Given the description of an element on the screen output the (x, y) to click on. 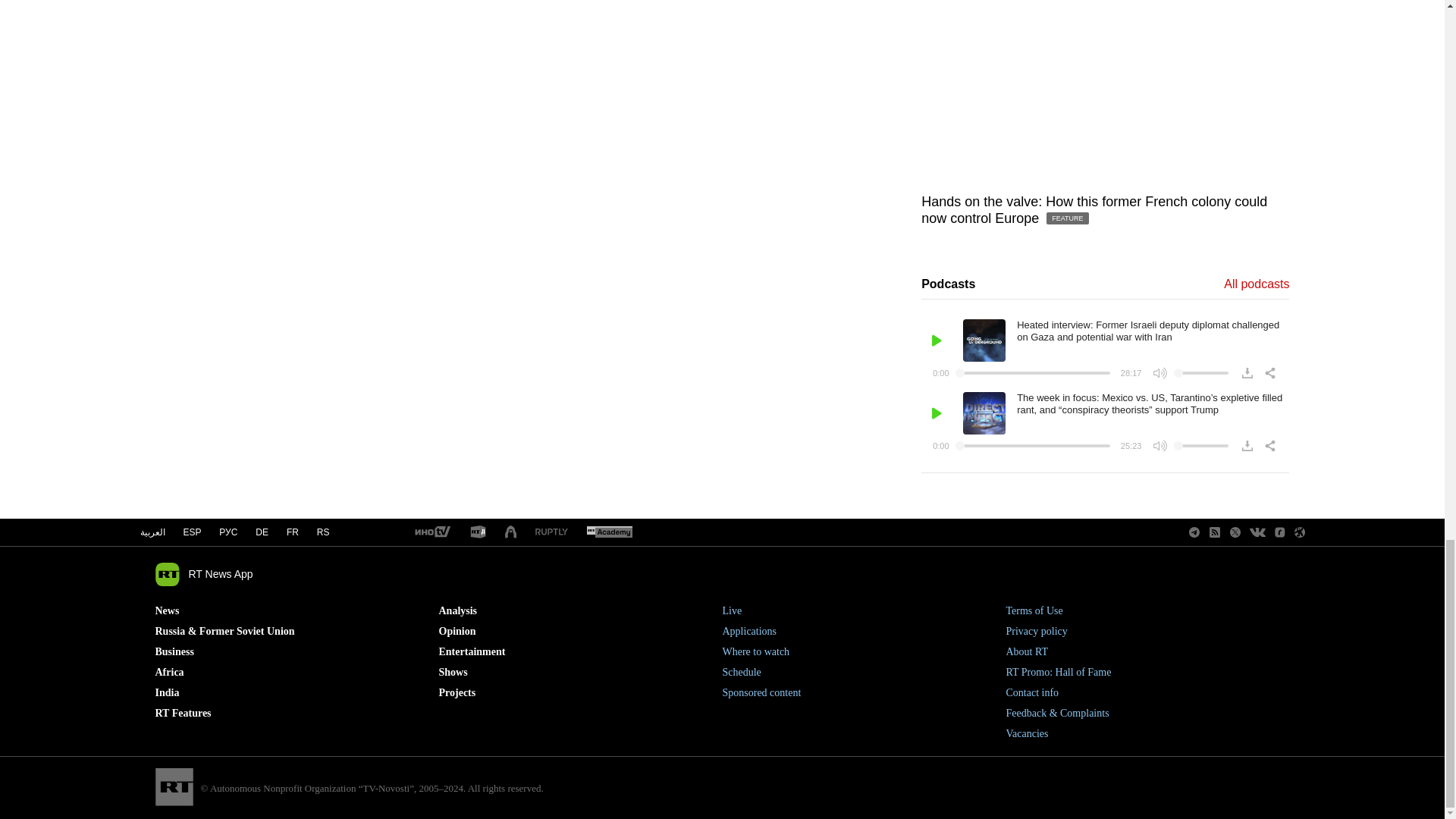
RT  (608, 532)
RT  (478, 532)
RT  (551, 532)
RT  (431, 532)
